Given the description of an element on the screen output the (x, y) to click on. 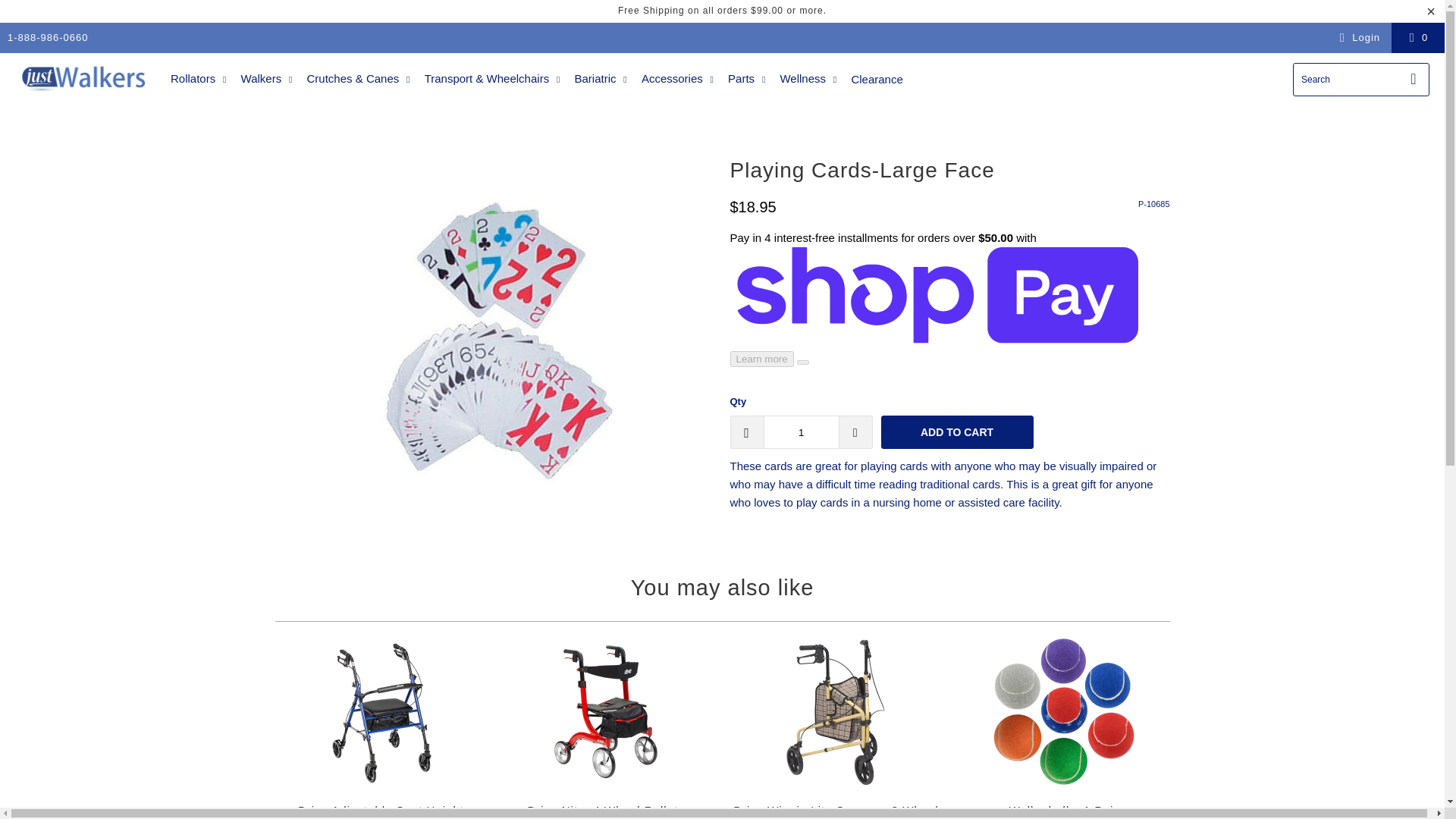
My Account  (1357, 37)
Just Walkers (84, 78)
1 (800, 431)
